Given the description of an element on the screen output the (x, y) to click on. 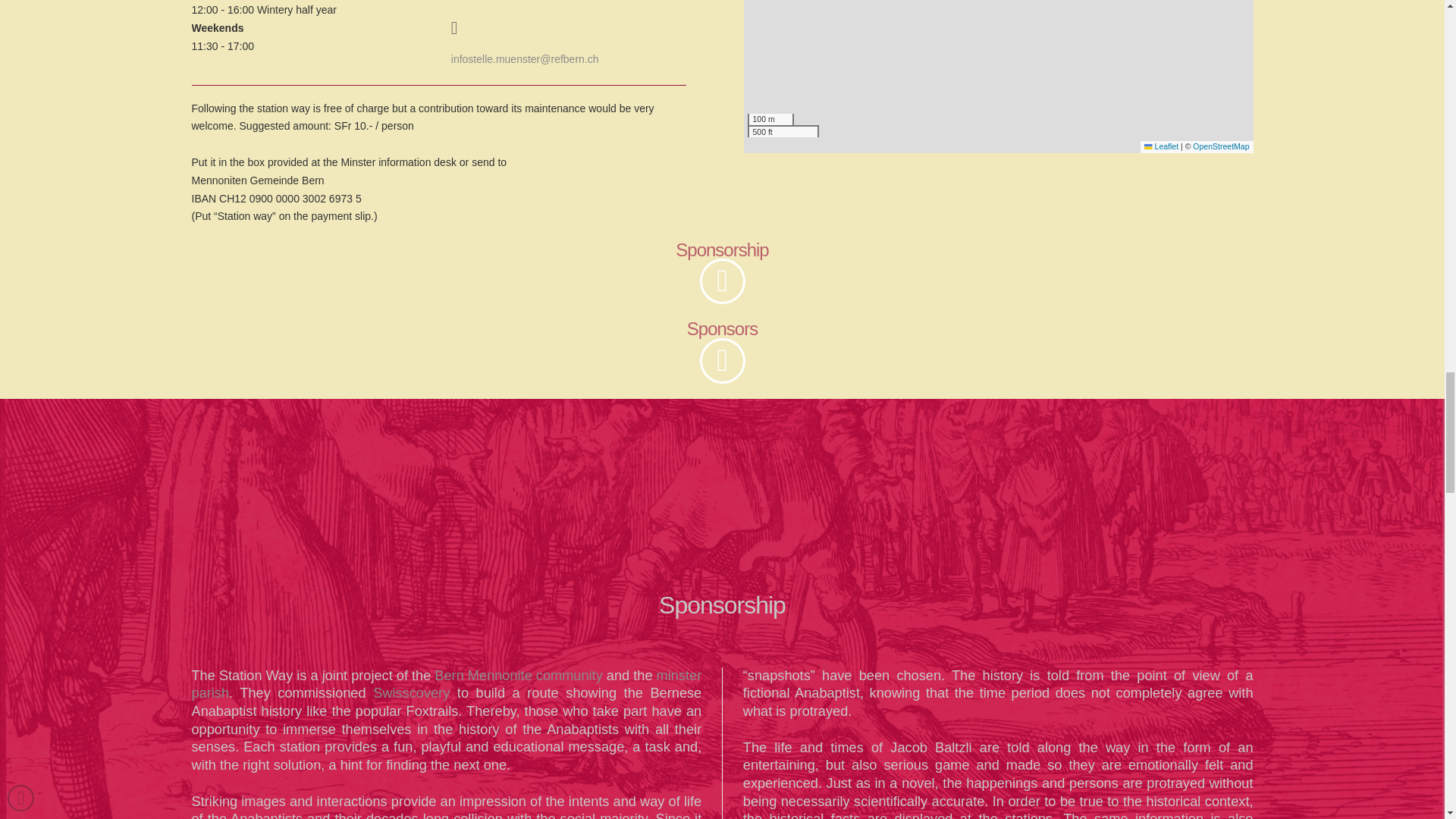
Leaflet (1160, 145)
OpenStreetMap (1220, 145)
A JavaScript library for interactive maps (1160, 145)
